Given the description of an element on the screen output the (x, y) to click on. 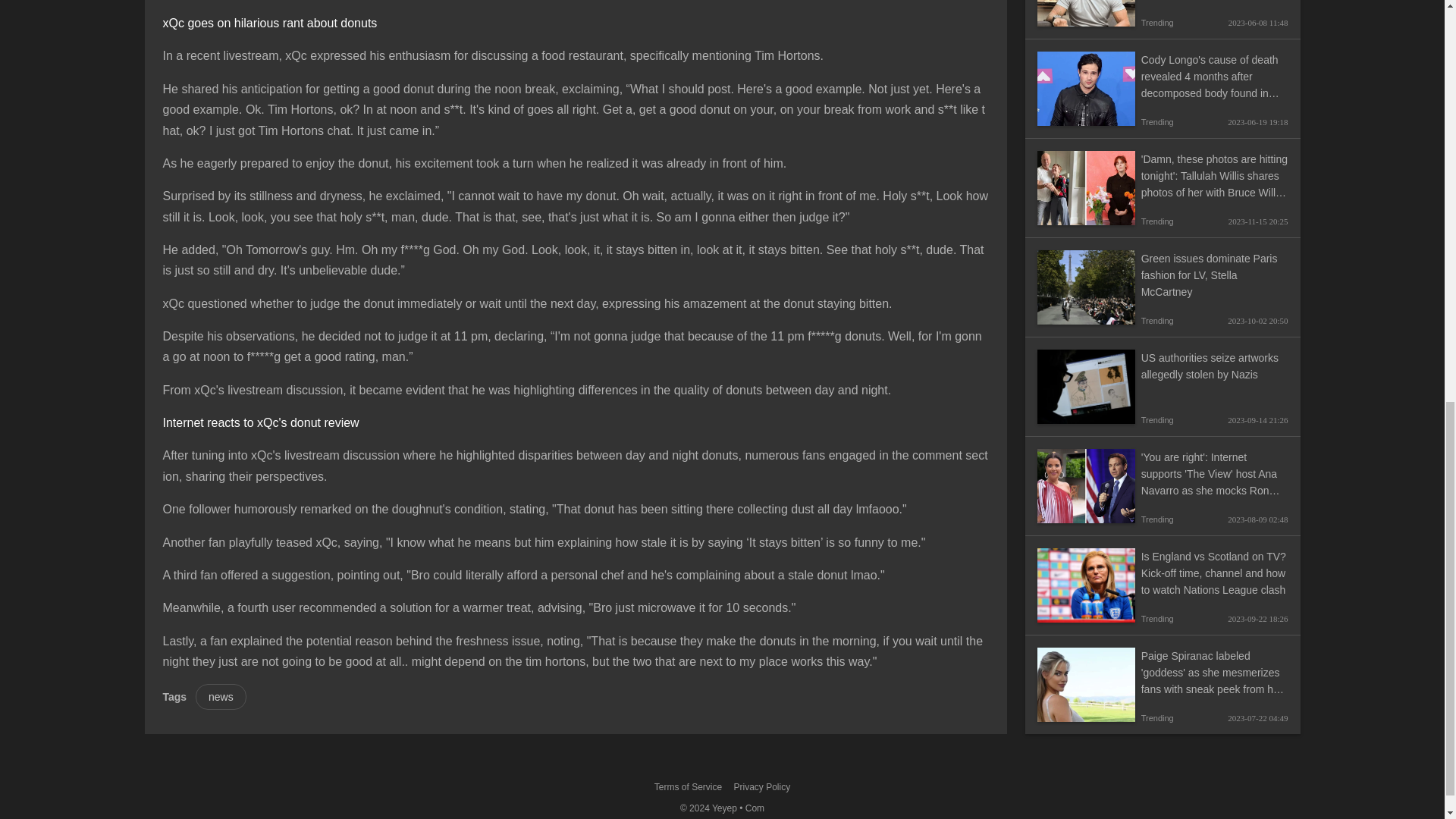
news (220, 696)
Privacy Policy (761, 786)
Terms of Service (687, 786)
